Given the description of an element on the screen output the (x, y) to click on. 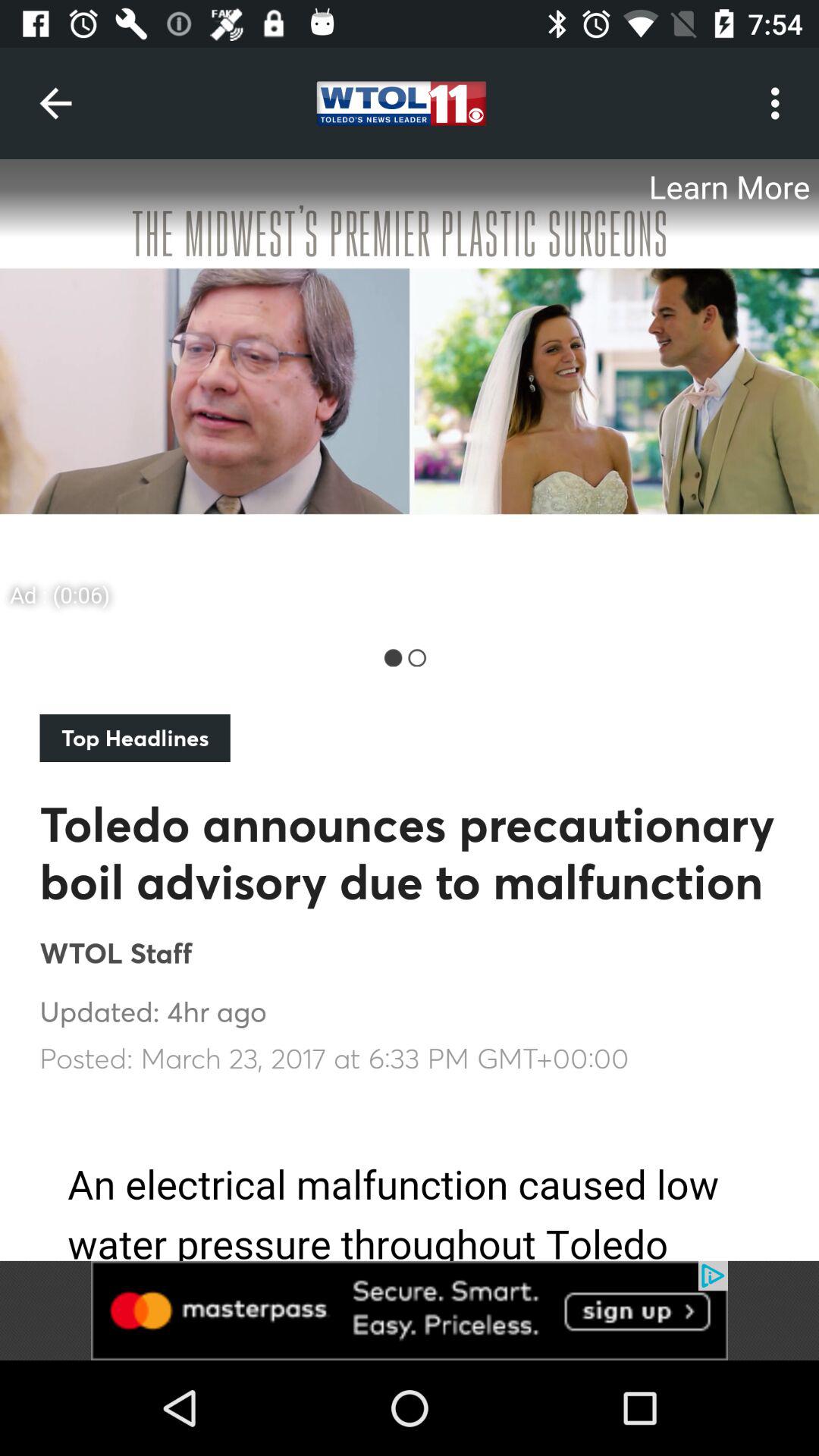
know about the advertisement (409, 389)
